Given the description of an element on the screen output the (x, y) to click on. 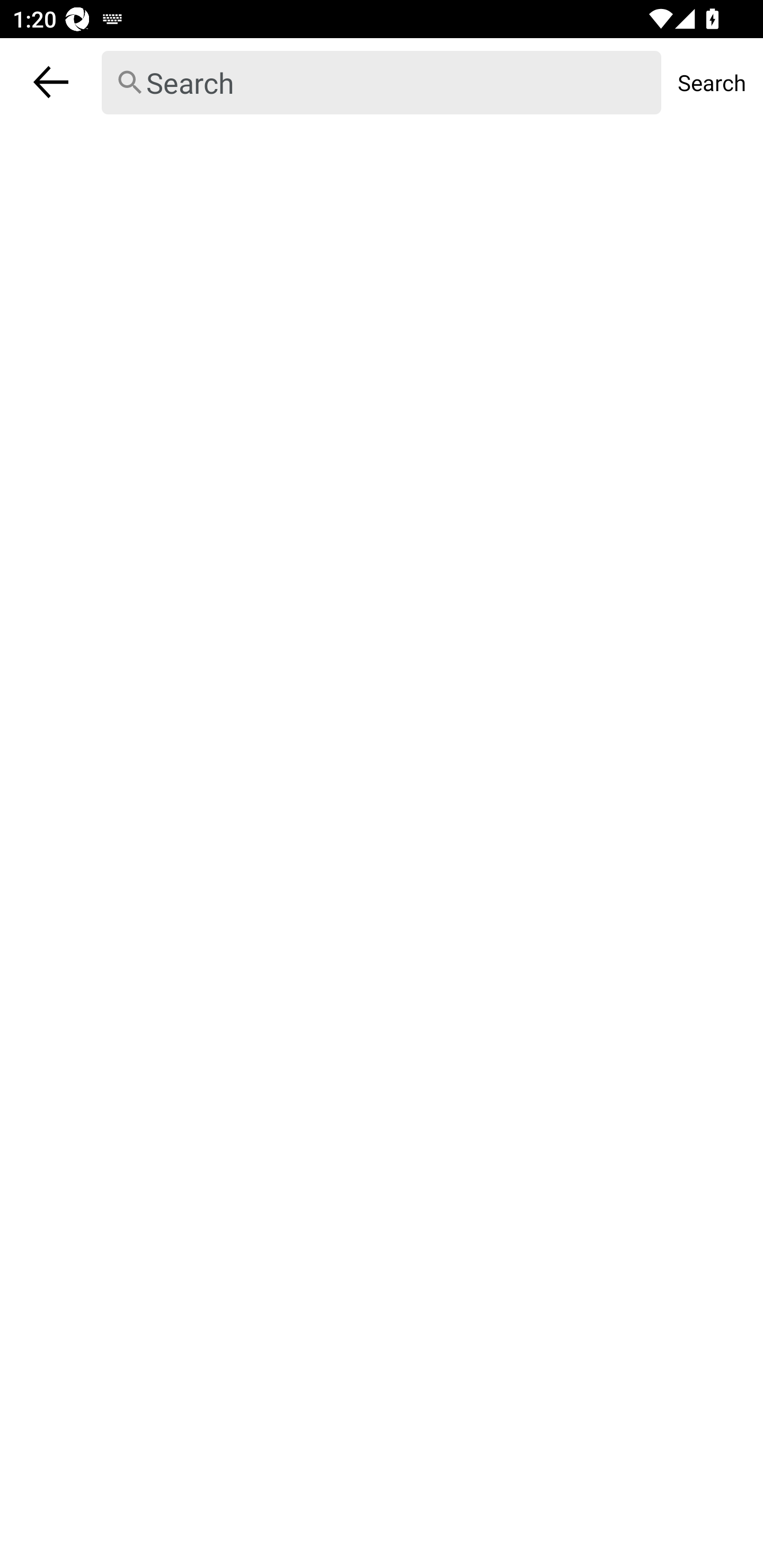
close (50, 81)
search Search (381, 82)
Search (381, 82)
Search (711, 82)
